Given the description of an element on the screen output the (x, y) to click on. 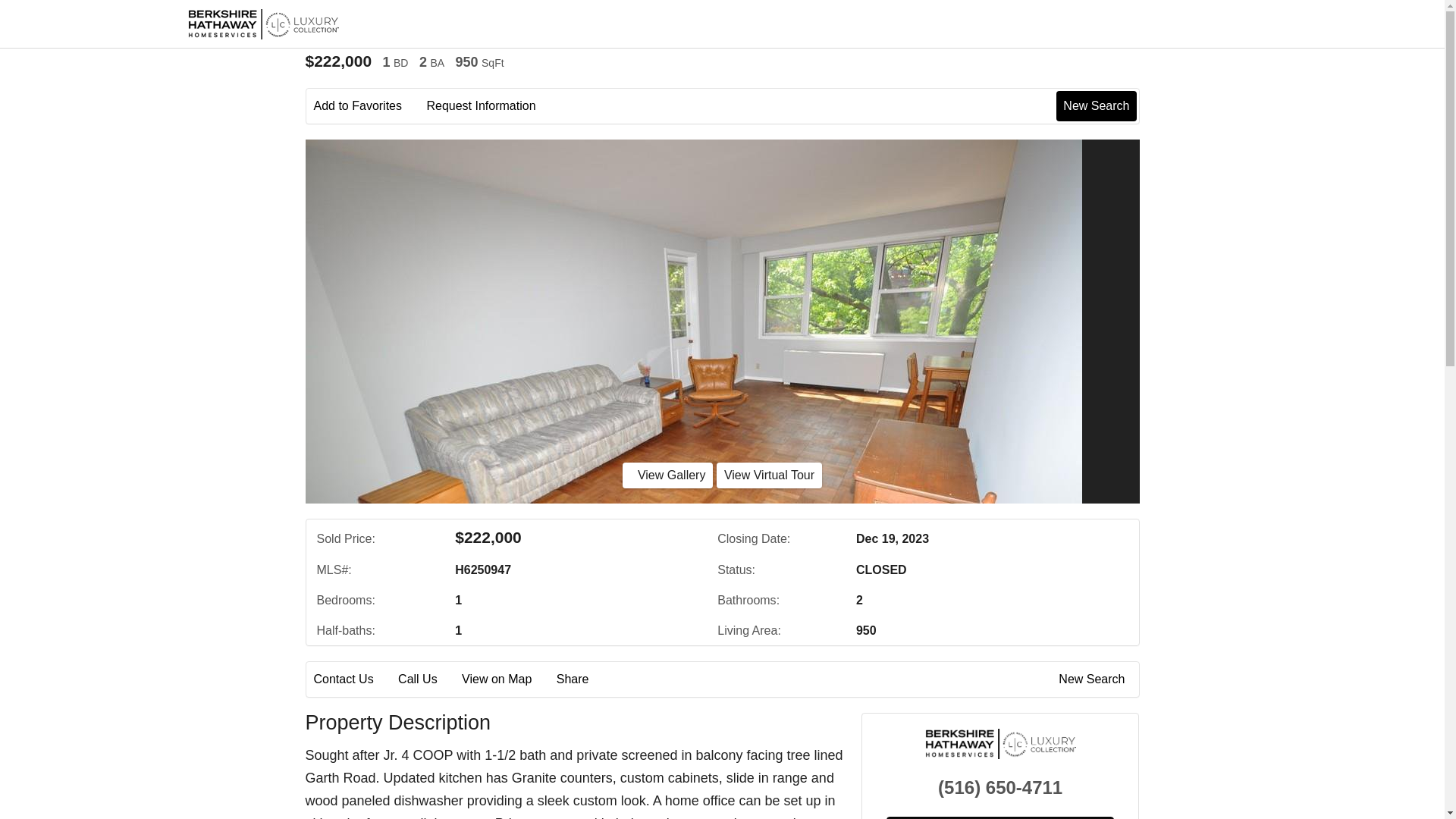
Add to Favorites (368, 106)
New Search (1096, 105)
Share (583, 679)
Contact Us (354, 679)
View Virtual Tour (769, 474)
View on Map (507, 679)
Call Us (427, 679)
View Gallery (668, 474)
Request Information (491, 106)
